Given the description of an element on the screen output the (x, y) to click on. 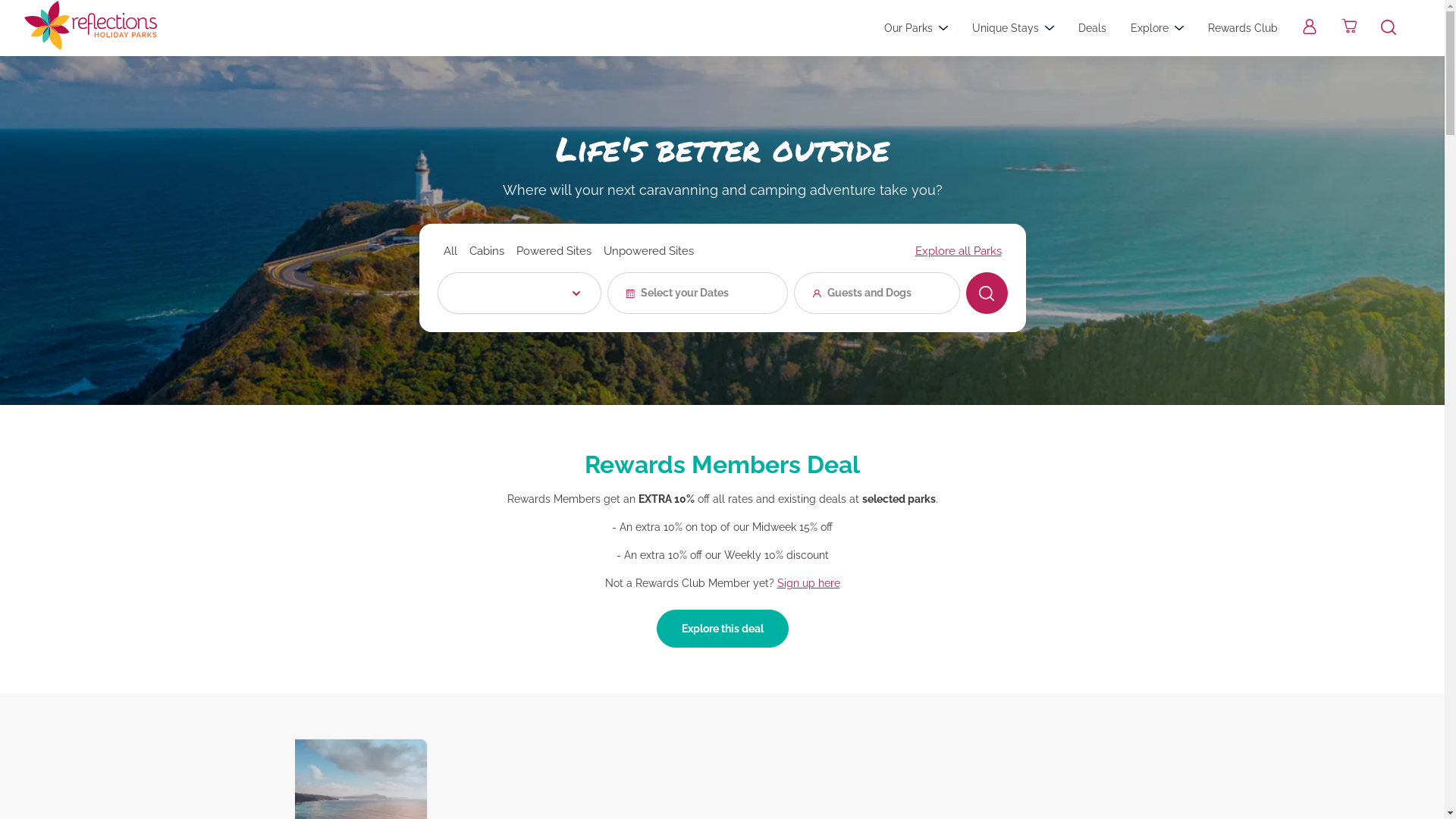
Sign up here Element type: text (807, 583)
Our Parks Element type: text (915, 28)
Explore this deal Element type: text (722, 628)
Explore all Parks Element type: text (957, 250)
Guests and Dogs Element type: text (876, 293)
Unique Stays Element type: text (1013, 28)
Deals Element type: text (1092, 28)
Rewards Club Element type: text (1242, 28)
Explore Element type: text (1156, 28)
